Given the description of an element on the screen output the (x, y) to click on. 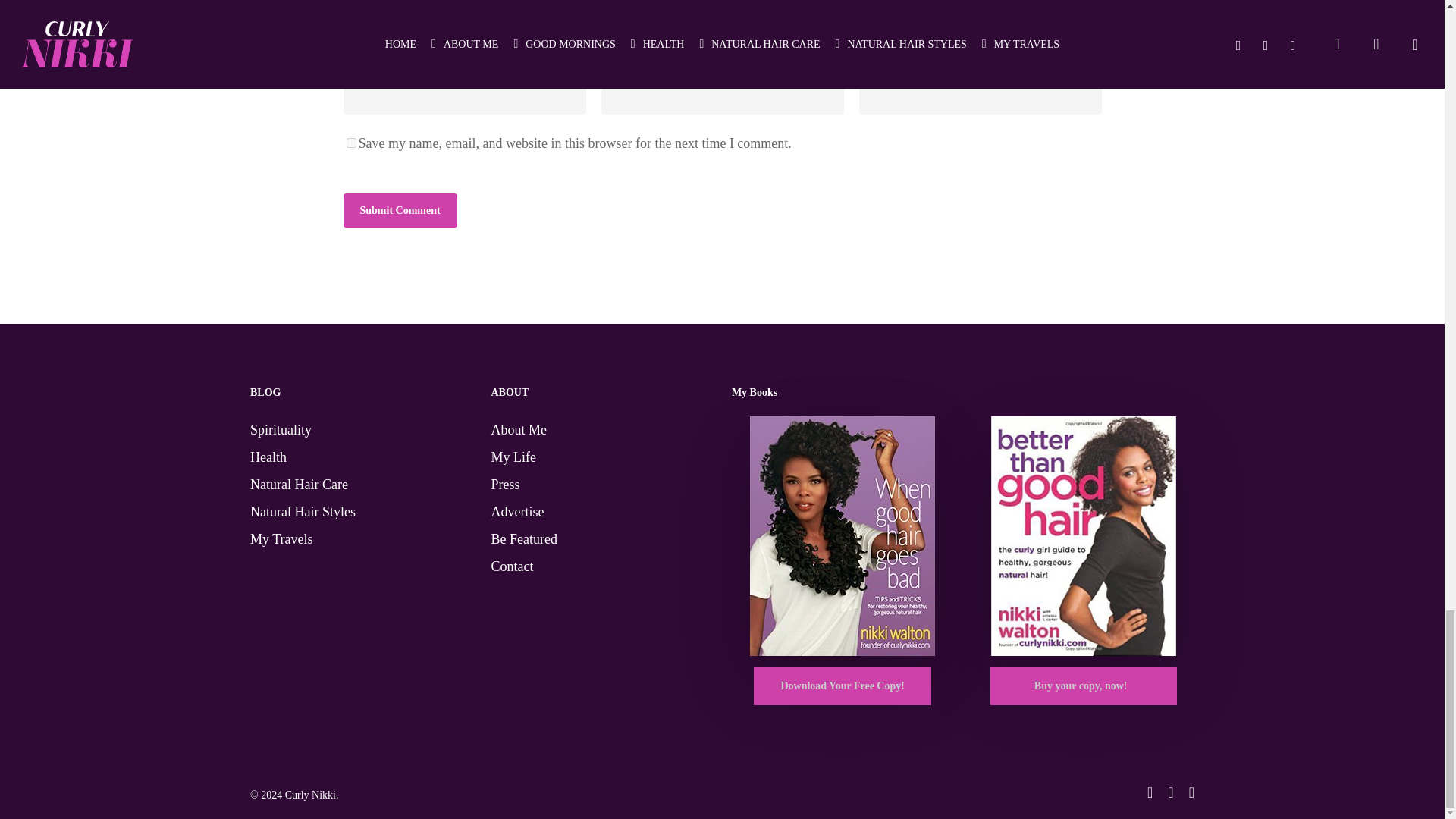
yes (350, 143)
Submit Comment (399, 210)
